Given the description of an element on the screen output the (x, y) to click on. 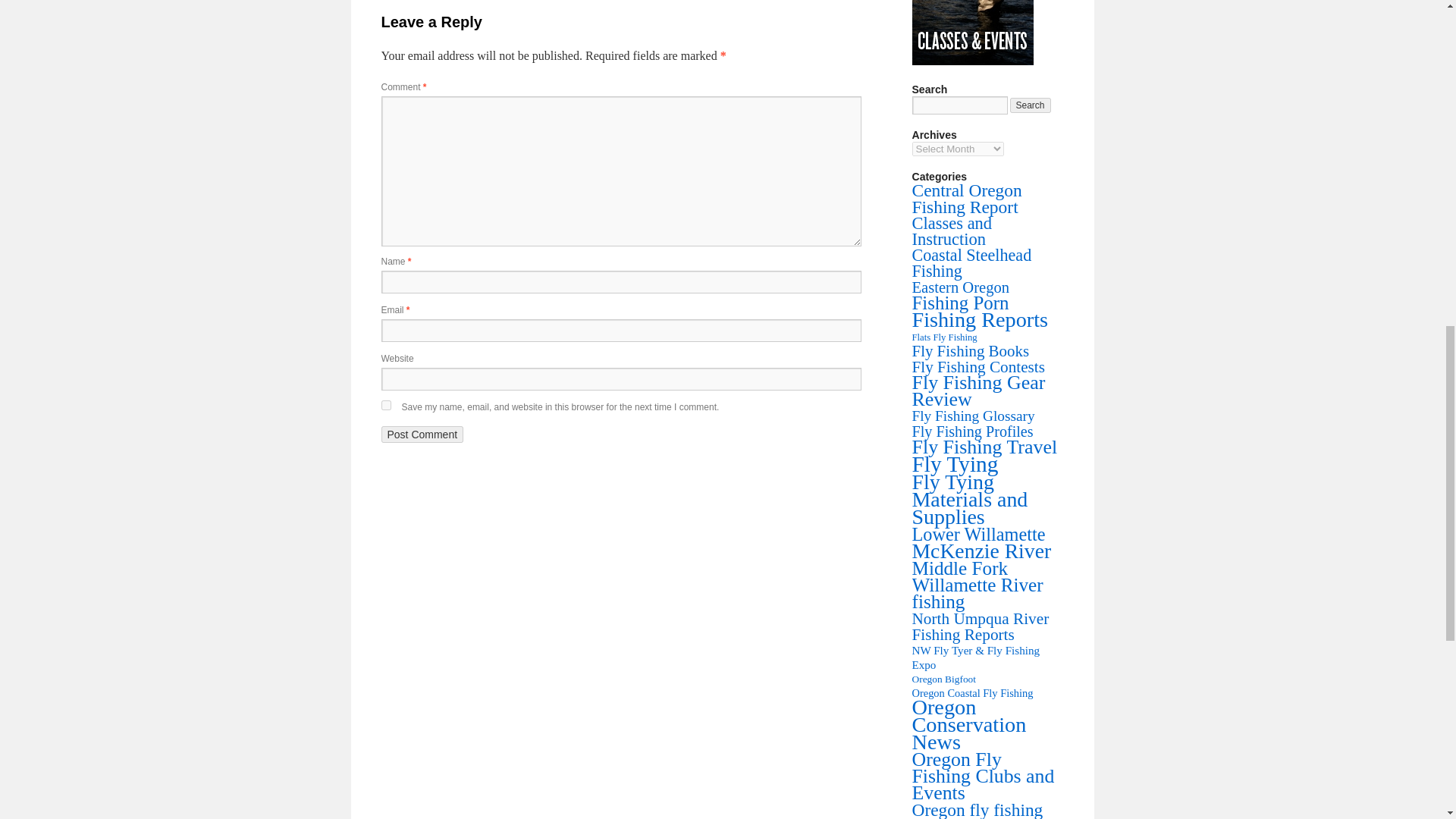
Post Comment (421, 434)
Search (1030, 105)
yes (385, 405)
Post Comment (421, 434)
